Given the description of an element on the screen output the (x, y) to click on. 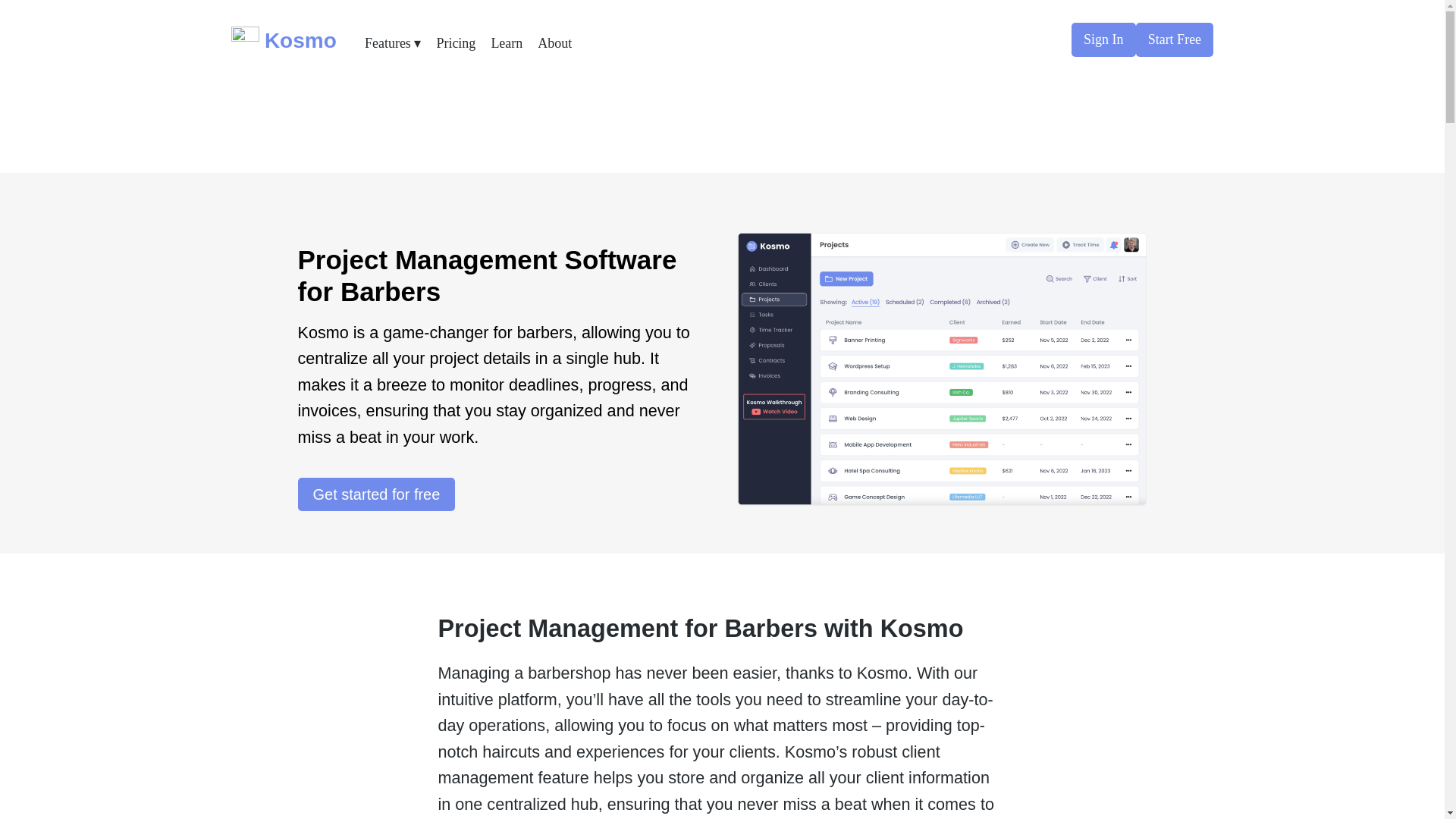
Start Free (1174, 38)
About (554, 43)
Get started for free (375, 494)
Learn (506, 43)
Pricing (455, 43)
Sign In (1103, 38)
